Given the description of an element on the screen output the (x, y) to click on. 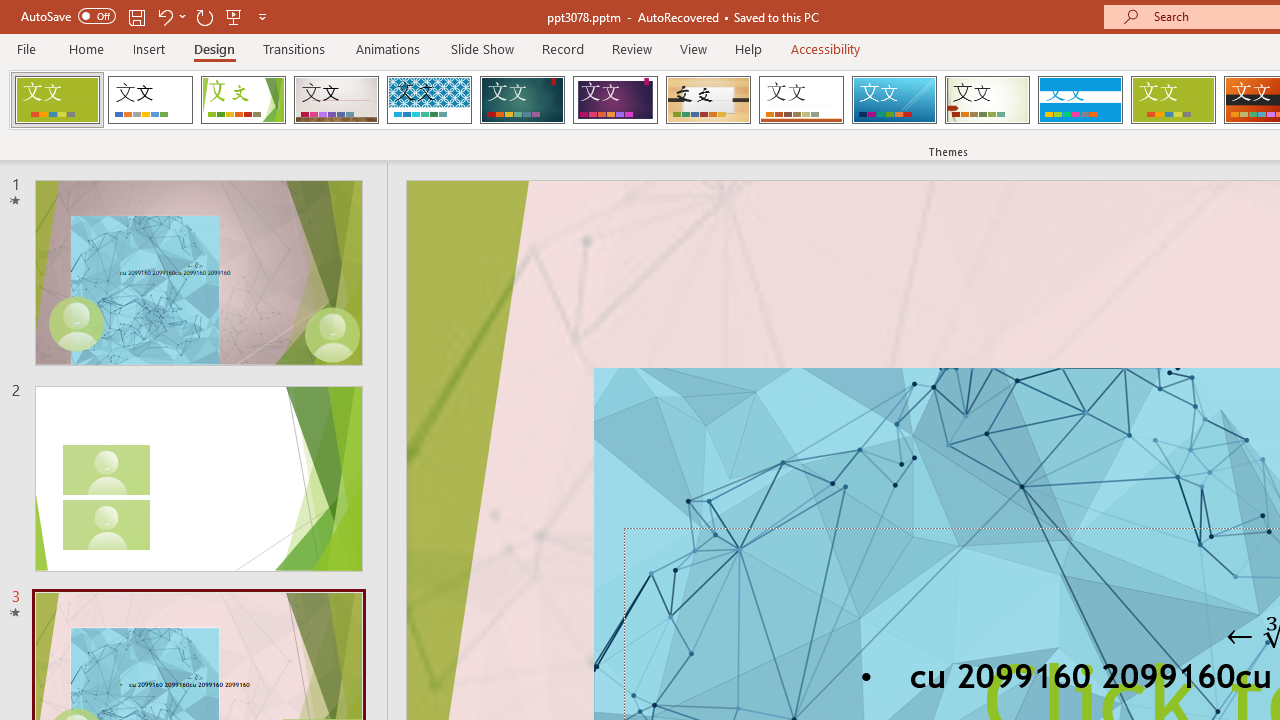
Office Theme (150, 100)
Slice (893, 100)
Organic (708, 100)
Banded (1080, 100)
